Given the description of an element on the screen output the (x, y) to click on. 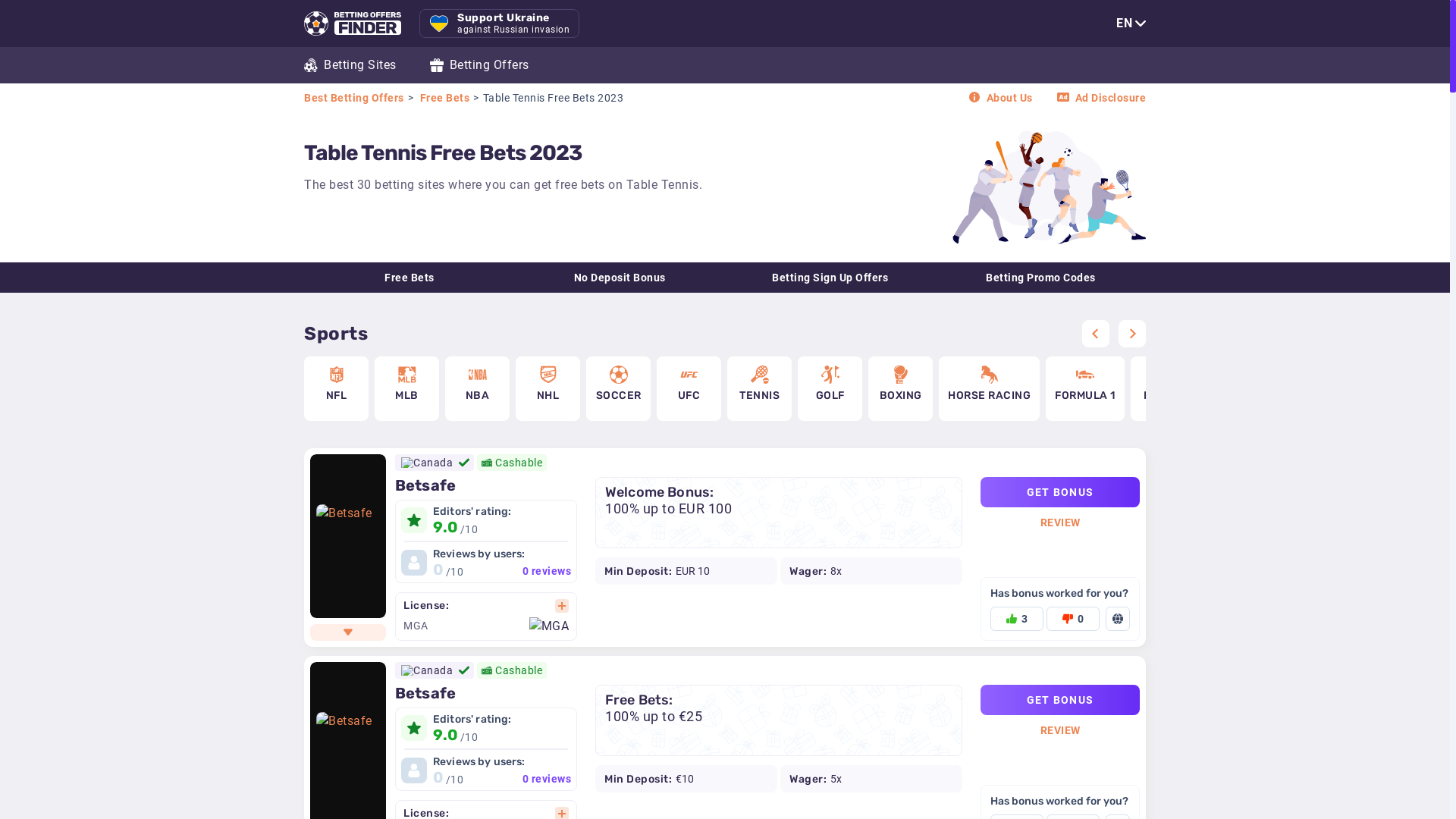
FORMULA 1 Element type: text (1084, 388)
Welcome Bonus:
100% up to EUR 100 Element type: text (778, 512)
HORSE RACING Element type: text (988, 388)
3 Element type: text (1016, 615)
NBA Element type: text (477, 388)
NFL Element type: text (336, 388)
GET BONUS Element type: text (1059, 699)
GET BONUS Element type: text (1059, 491)
MLB Element type: text (406, 388)
Betting Sites Element type: text (350, 65)
Betting Promo Codes Element type: text (1040, 277)
REVIEW Element type: text (1060, 522)
Free Bets Element type: text (446, 97)
No Deposit Bonus Element type: text (619, 277)
GOLF Element type: text (829, 388)
BOXING Element type: text (900, 388)
Reviews by users:
0
/10
0 reviews Element type: text (486, 562)
UFC Element type: text (688, 388)
REVIEW Element type: text (1060, 729)
Best Betting Offers Element type: text (355, 97)
Reviews by users:
0
/10
0 reviews Element type: text (486, 767)
Support Ukraine
against Russian invasion Element type: text (499, 23)
RUGBY Element type: text (1161, 388)
Betting Sign Up Offers Element type: text (829, 277)
Betting Offers Element type: text (478, 65)
0 Element type: text (1072, 615)
TENNIS Element type: text (759, 388)
NHL Element type: text (547, 388)
SOCCER Element type: text (618, 388)
Free Bets Element type: text (409, 277)
